Given the description of an element on the screen output the (x, y) to click on. 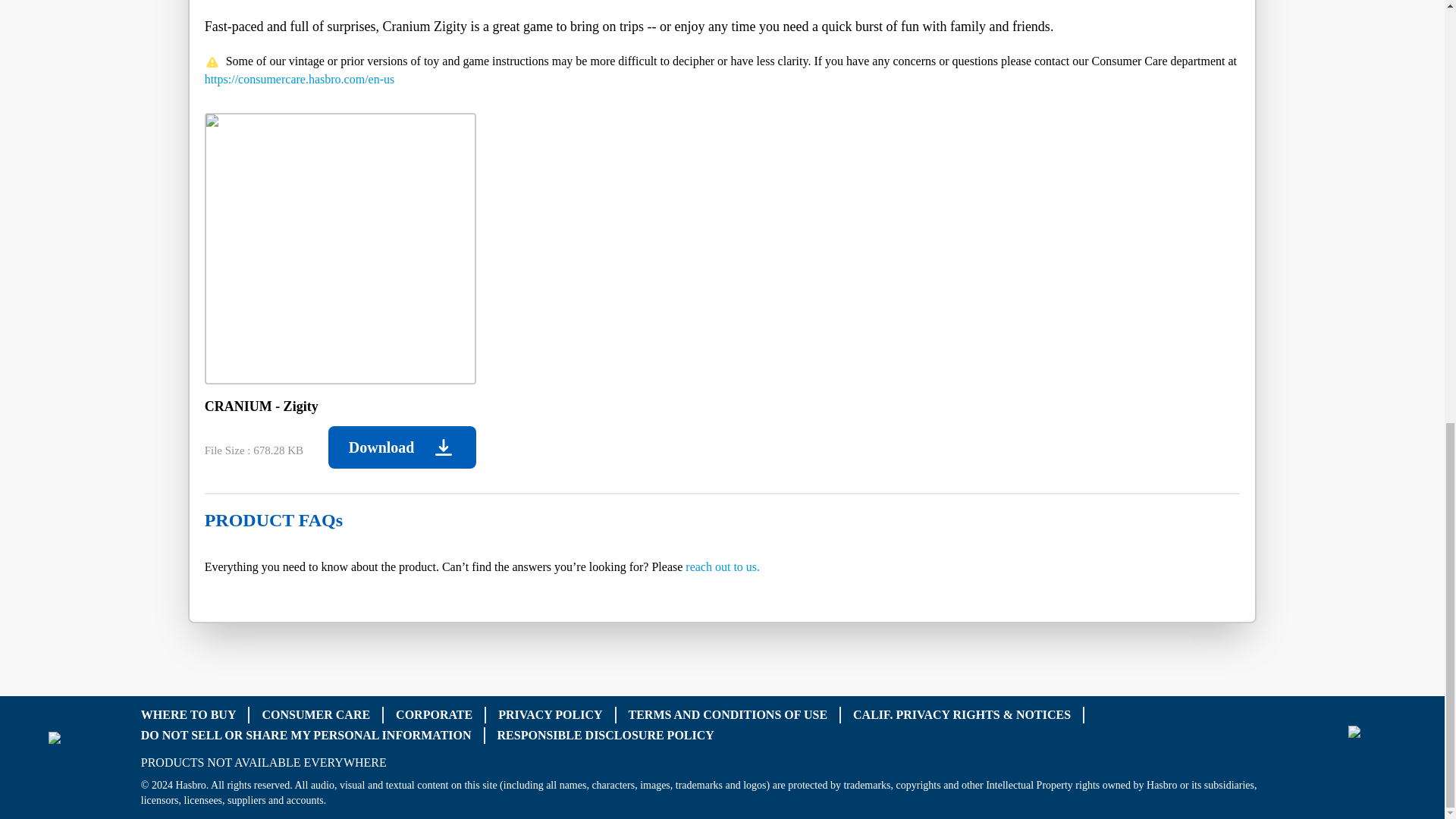
CONSUMER CARE (315, 714)
PRIVACY POLICY (549, 714)
TERMS AND CONDITIONS OF USE (727, 714)
RESPONSIBLE DISCLOSURE POLICY (605, 734)
WHERE TO BUY (188, 714)
DO NOT SELL OR SHARE MY PERSONAL INFORMATION (306, 734)
CORPORATE (433, 714)
reach out to us. (722, 566)
Download (402, 446)
